Given the description of an element on the screen output the (x, y) to click on. 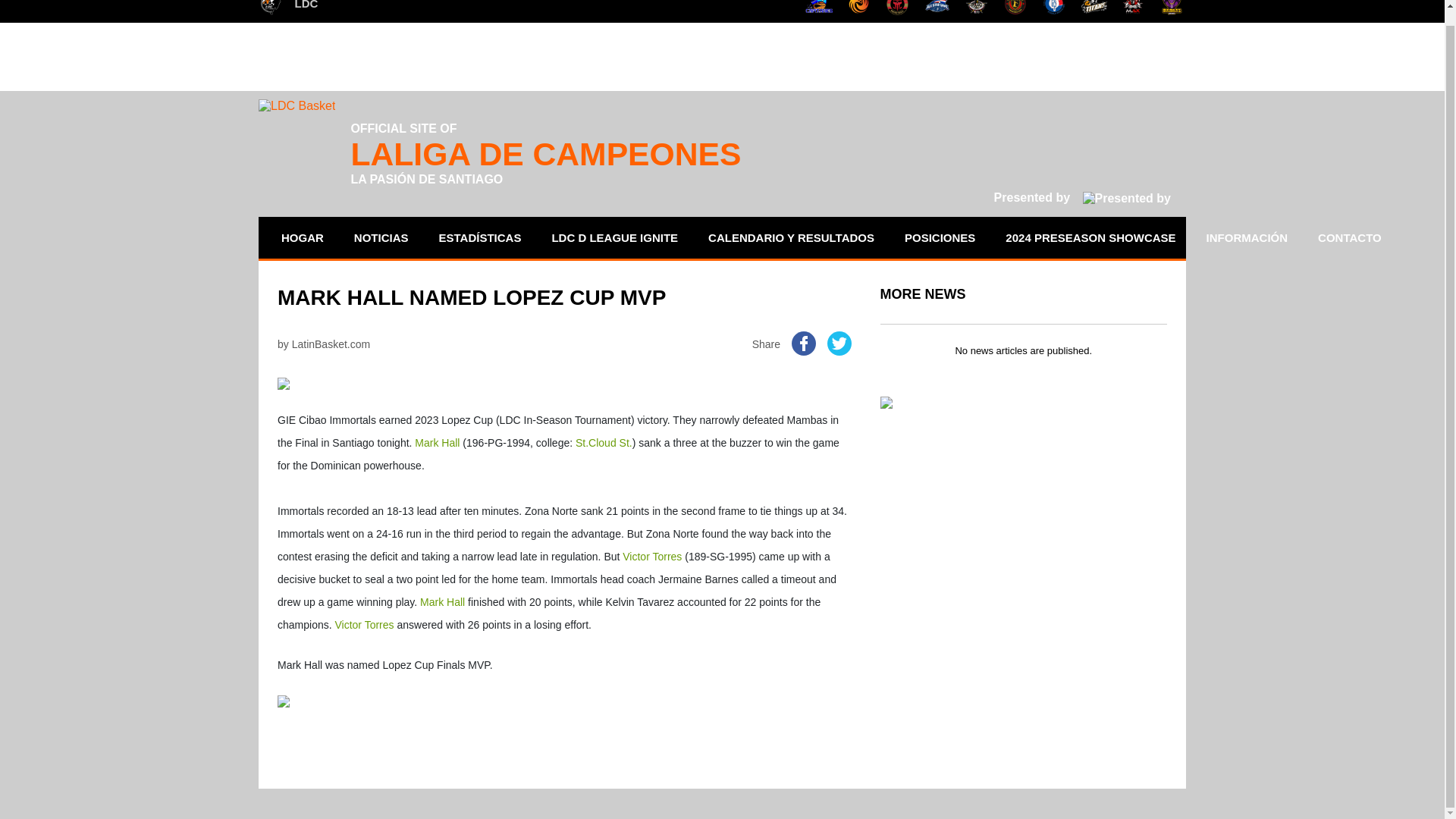
Victor Torres (652, 556)
2024 PRESEASON SHOWCASE (1090, 237)
HOGAR (301, 237)
CONTACTO (1349, 237)
Mark Hall (442, 602)
LDC (288, 7)
POSICIONES (940, 237)
LDC D LEAGUE IGNITE (614, 237)
Mark Hall (437, 442)
NOTICIAS (381, 237)
